Given the description of an element on the screen output the (x, y) to click on. 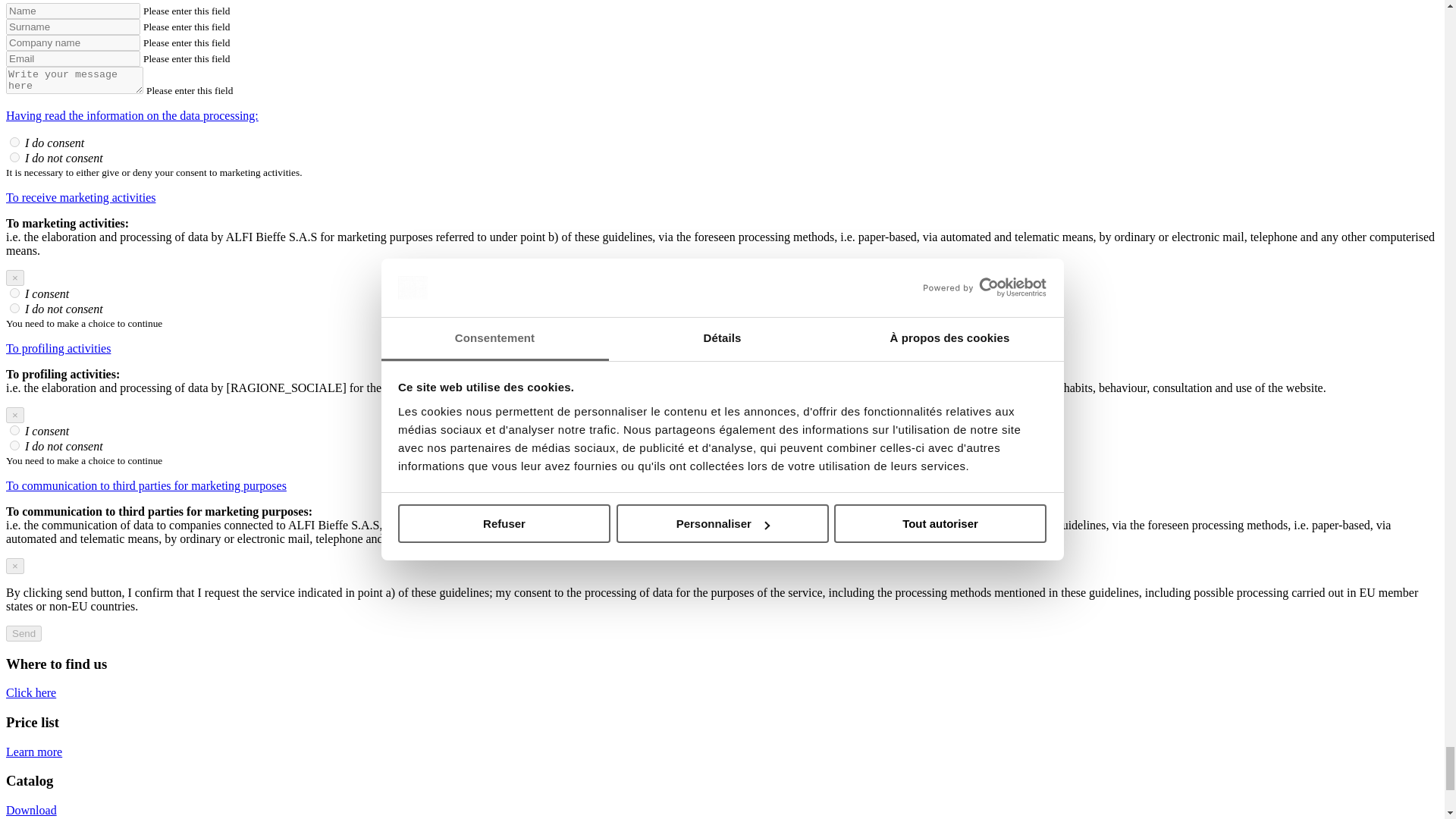
Si (15, 293)
No (15, 307)
No (15, 445)
Si (15, 429)
Si (15, 142)
No (15, 157)
